Given the description of an element on the screen output the (x, y) to click on. 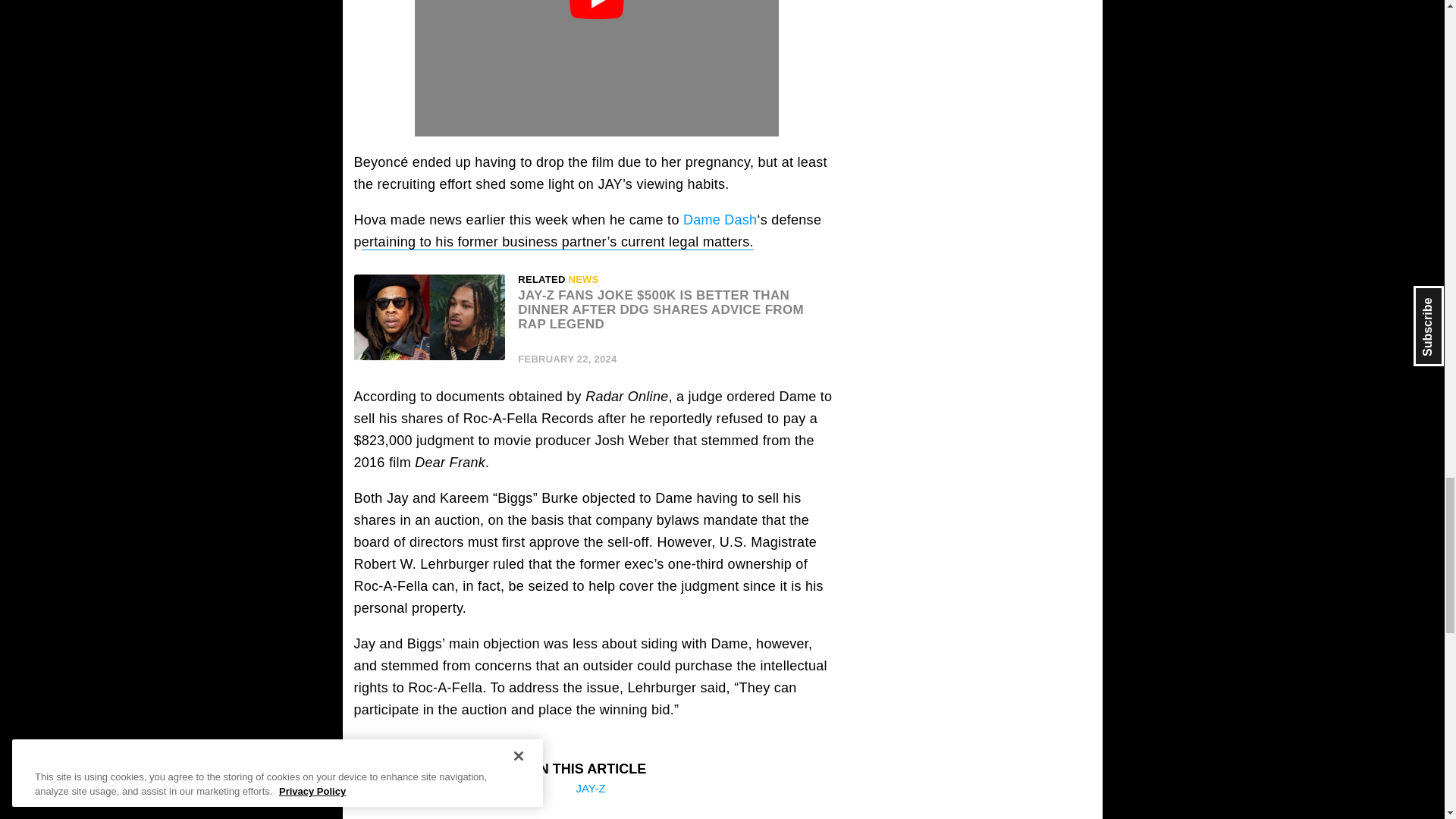
JAY-Z (590, 788)
Dame Dash (719, 219)
